Given the description of an element on the screen output the (x, y) to click on. 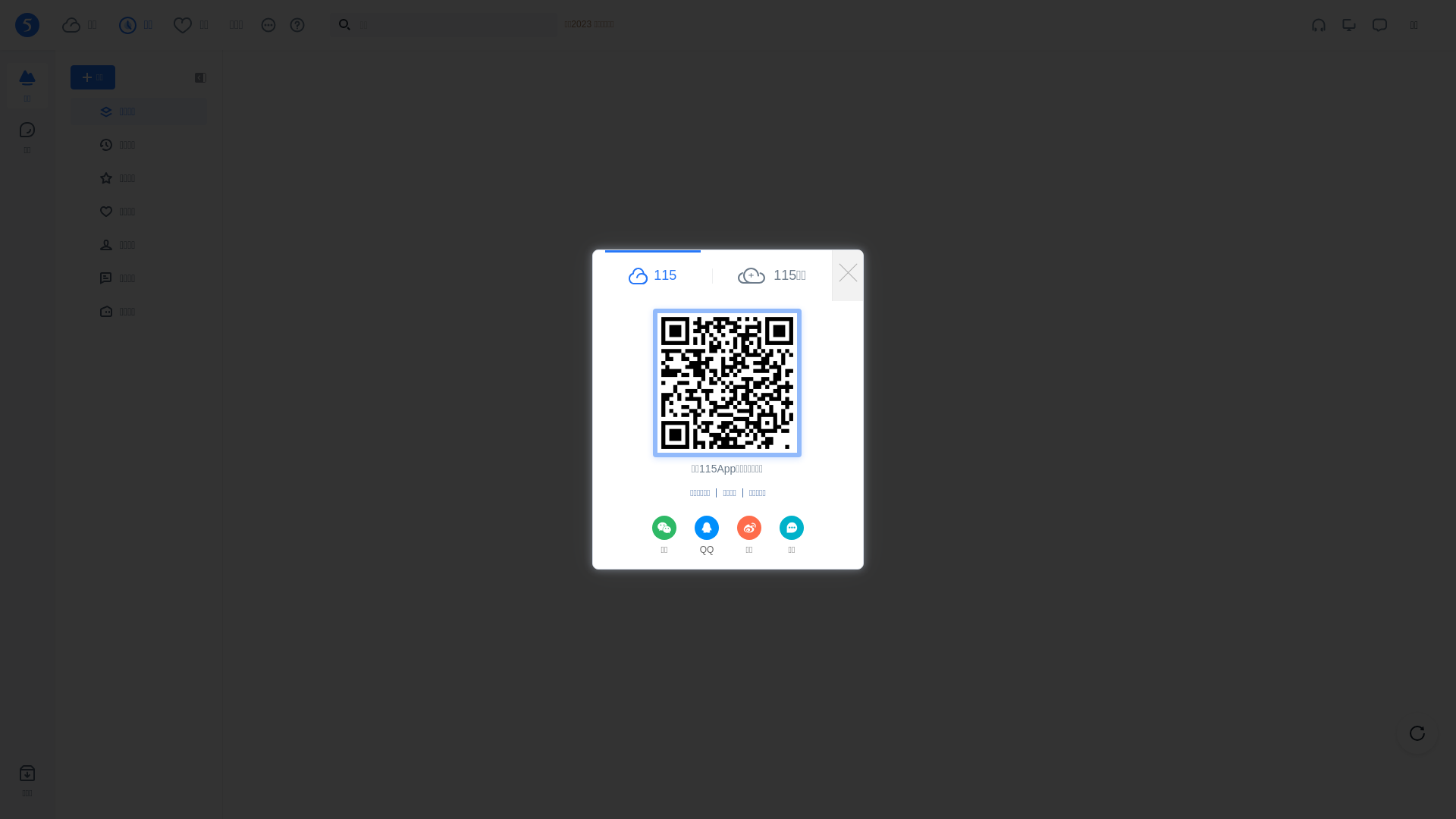
QQ Element type: text (706, 536)
